Given the description of an element on the screen output the (x, y) to click on. 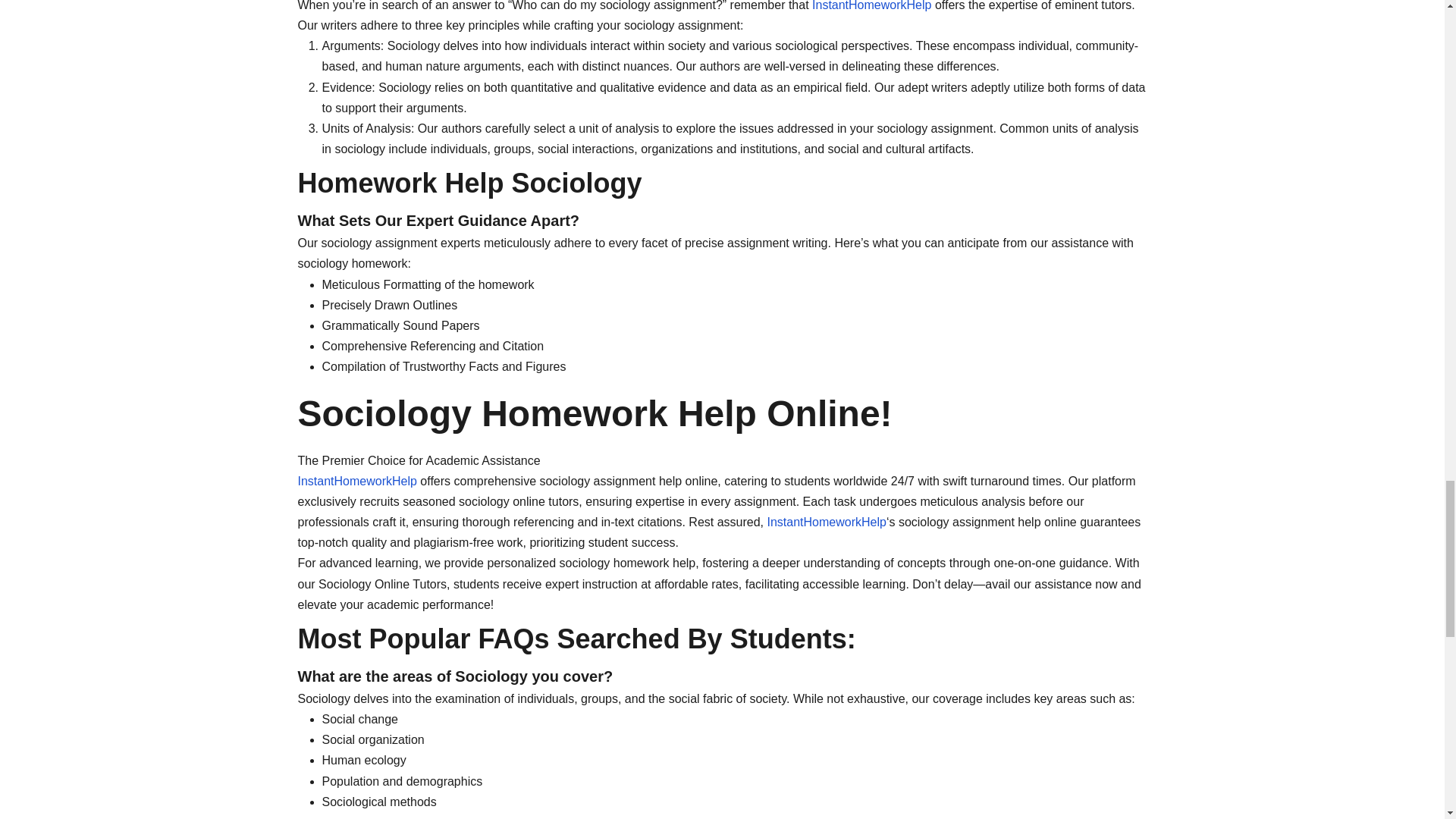
InstantHomeworkHelp (871, 5)
InstantHomeworkHelp (356, 481)
InstantHomeworkHelp (826, 521)
